Given the description of an element on the screen output the (x, y) to click on. 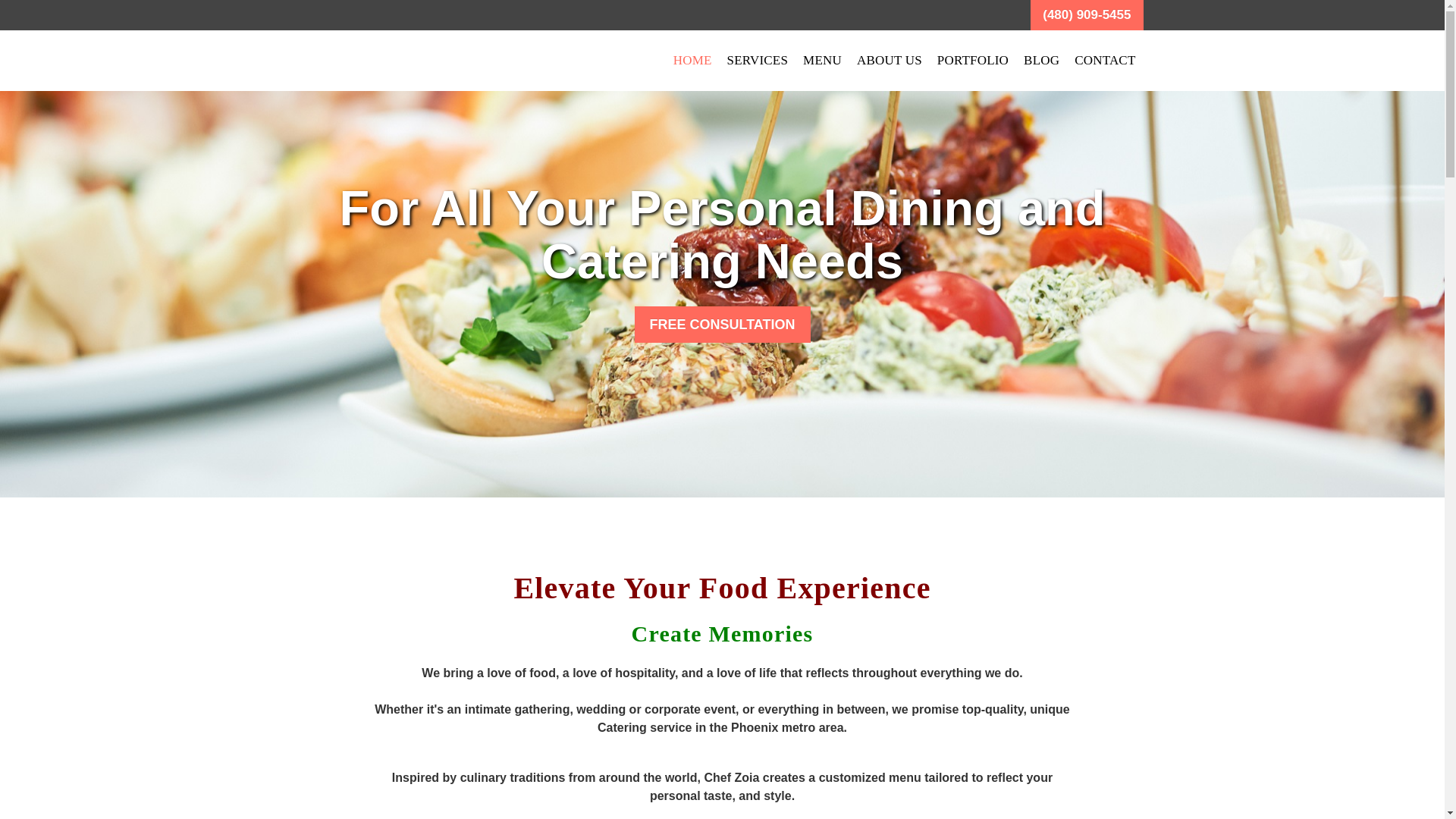
FREE CONSULTATION (721, 324)
BLOG (1041, 60)
ABOUT US (889, 60)
PORTFOLIO (973, 60)
HOME (692, 60)
CONTACT (1104, 60)
SERVICES (757, 60)
MENU (821, 60)
